Given the description of an element on the screen output the (x, y) to click on. 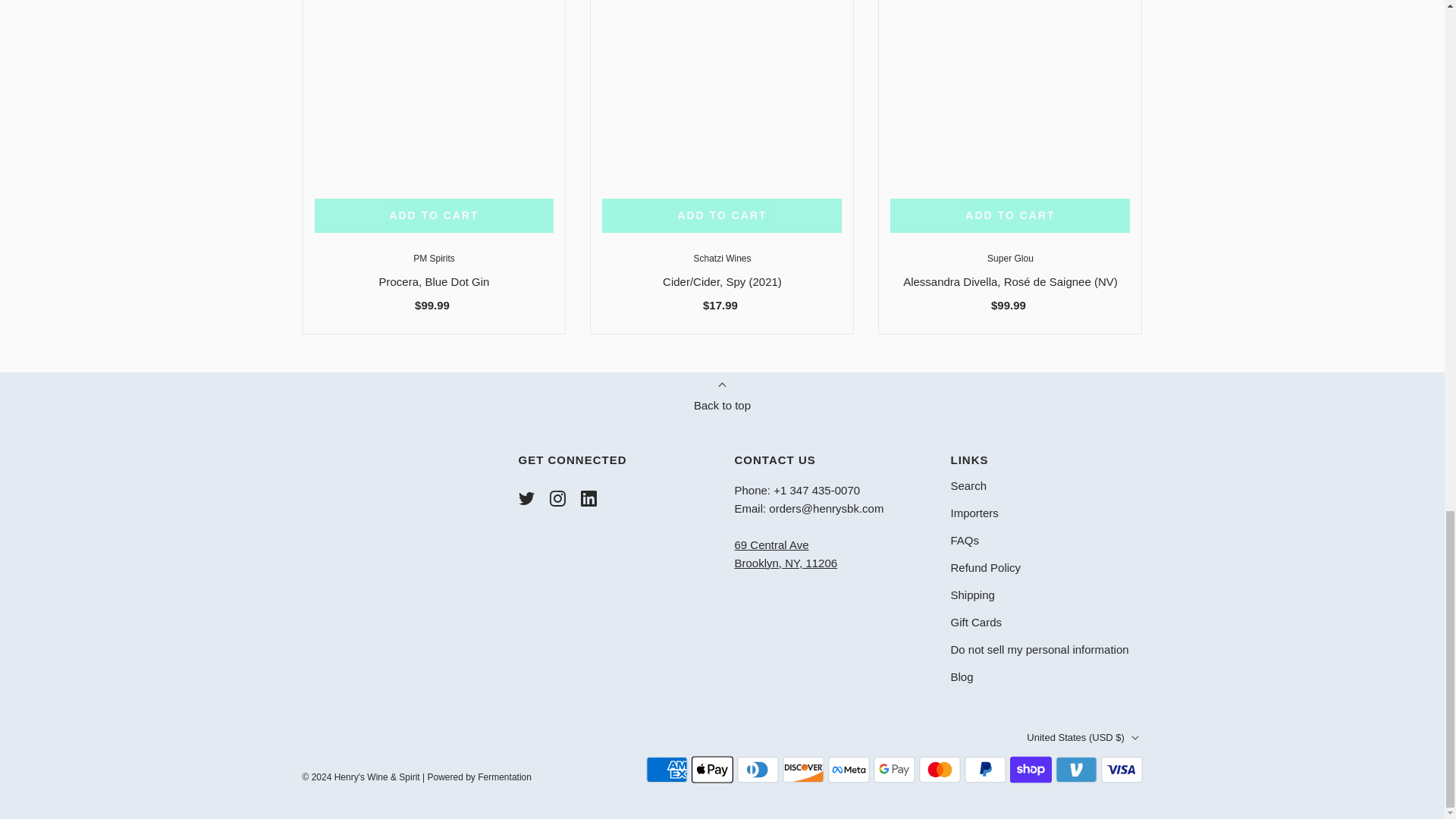
Discover (803, 769)
Instagram icon (556, 498)
PM Spirits (433, 258)
LinkedIn icon (588, 498)
Meta Pay (848, 769)
Super Glou (1010, 258)
Henry's Wine Store Brooklyn (785, 553)
American Express (666, 769)
Apple Pay (712, 769)
Twitter icon (526, 498)
Diners Club (757, 769)
Schatzi Wines (722, 258)
